Given the description of an element on the screen output the (x, y) to click on. 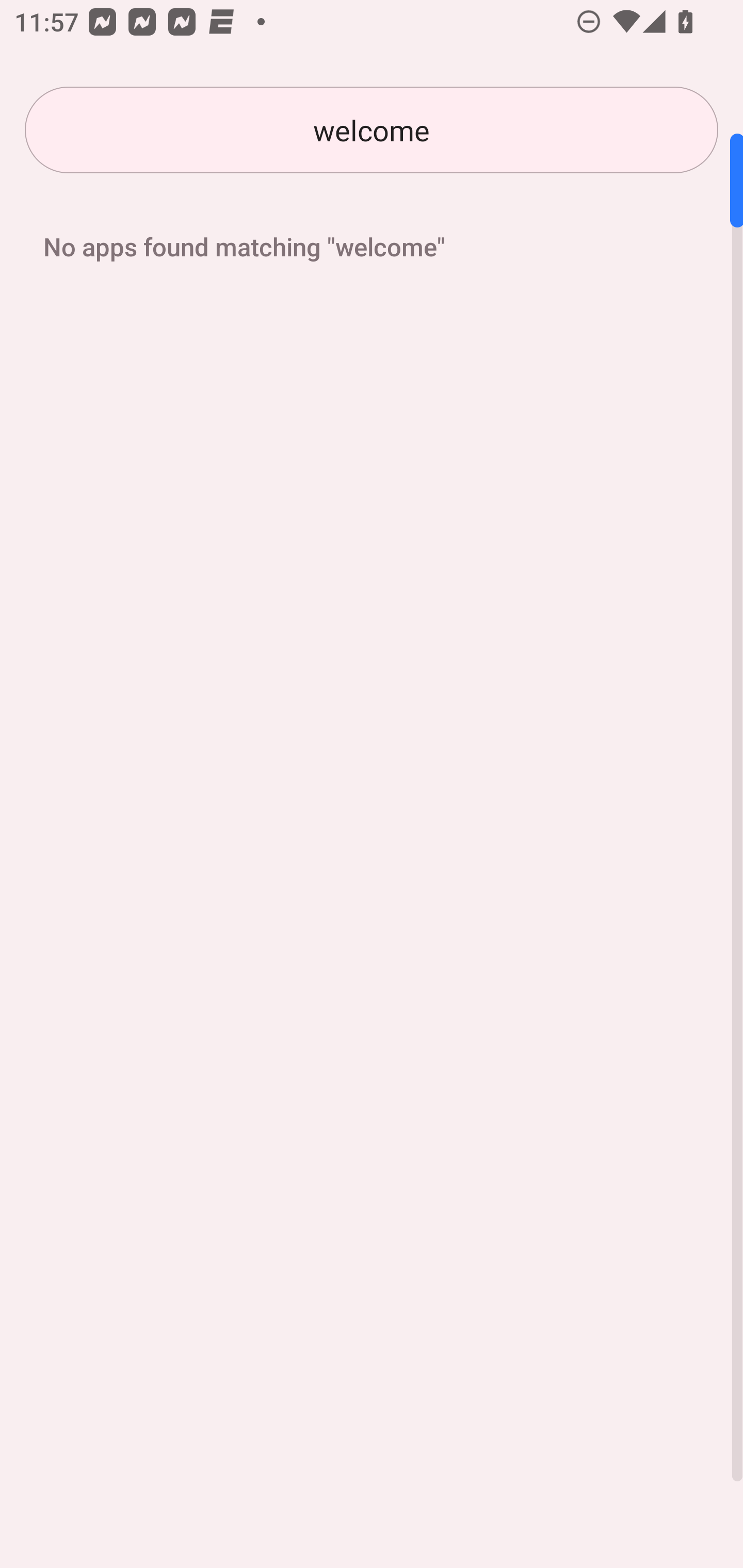
welcome (371, 130)
